Given the description of an element on the screen output the (x, y) to click on. 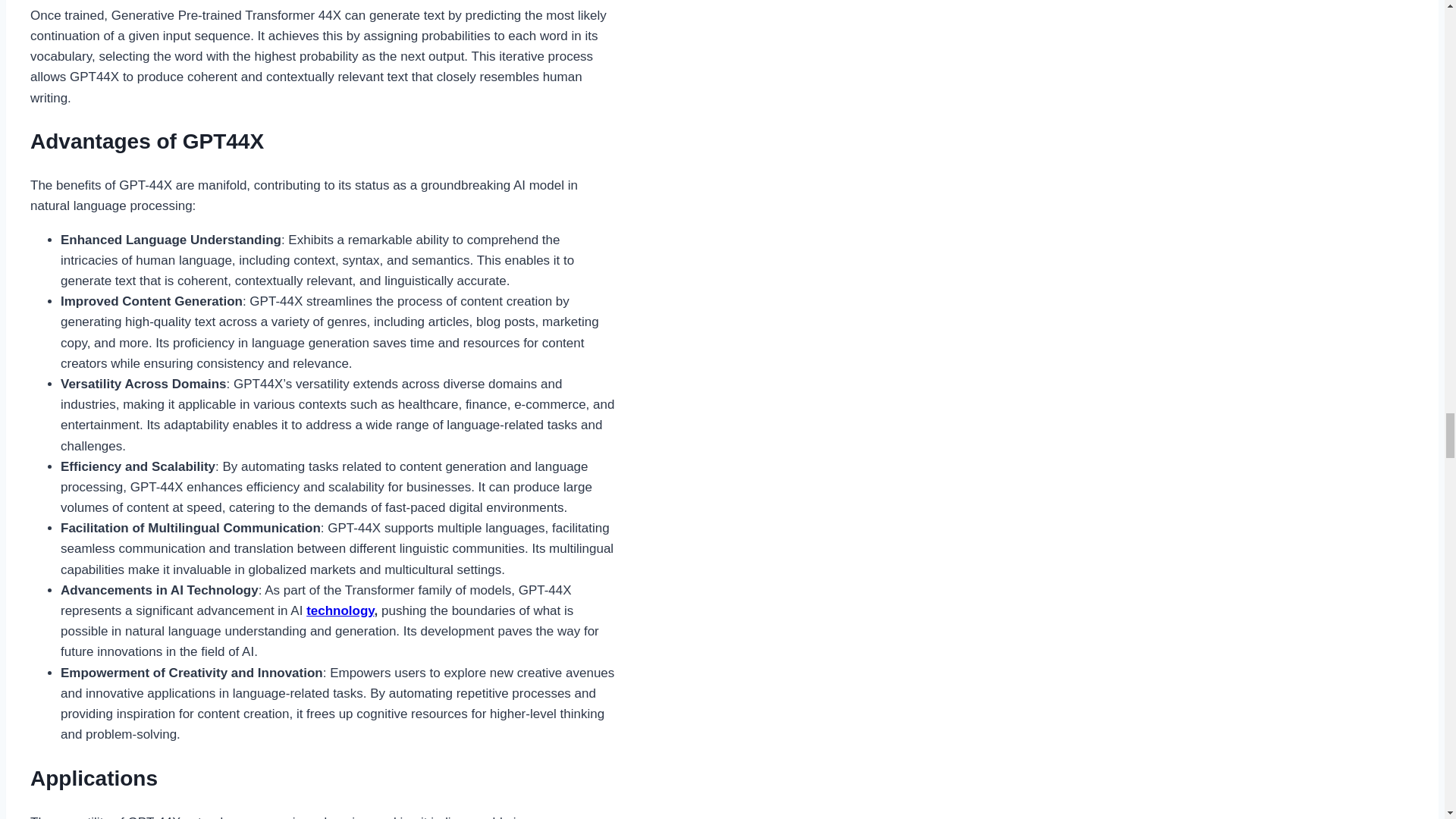
technology (339, 610)
